Given the description of an element on the screen output the (x, y) to click on. 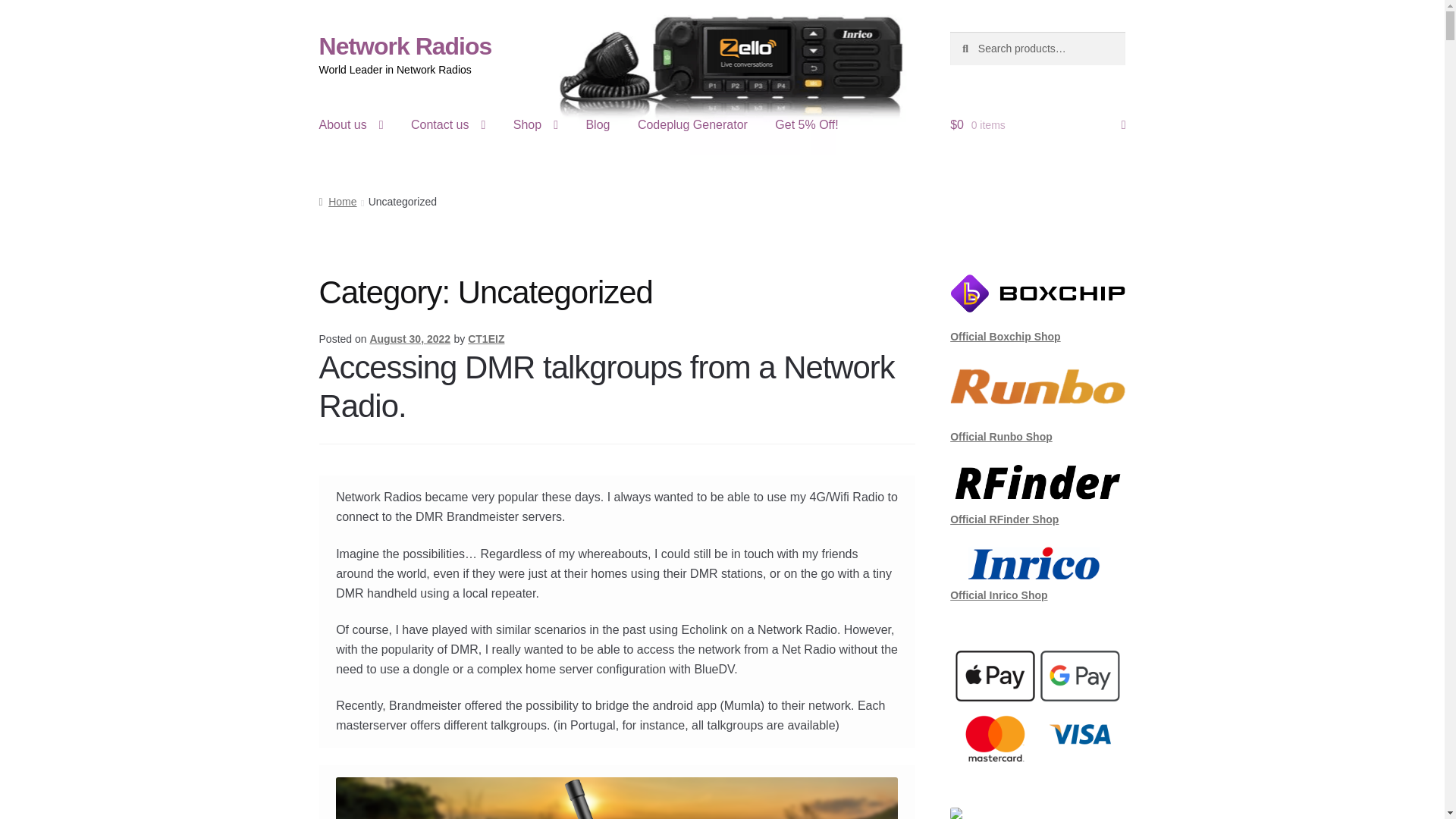
Shop (535, 124)
Network Radios (405, 45)
Codeplug Generator (693, 124)
View your shopping cart (1037, 124)
Home (337, 201)
Contact us (447, 124)
Blog (597, 124)
About us (351, 124)
